Given the description of an element on the screen output the (x, y) to click on. 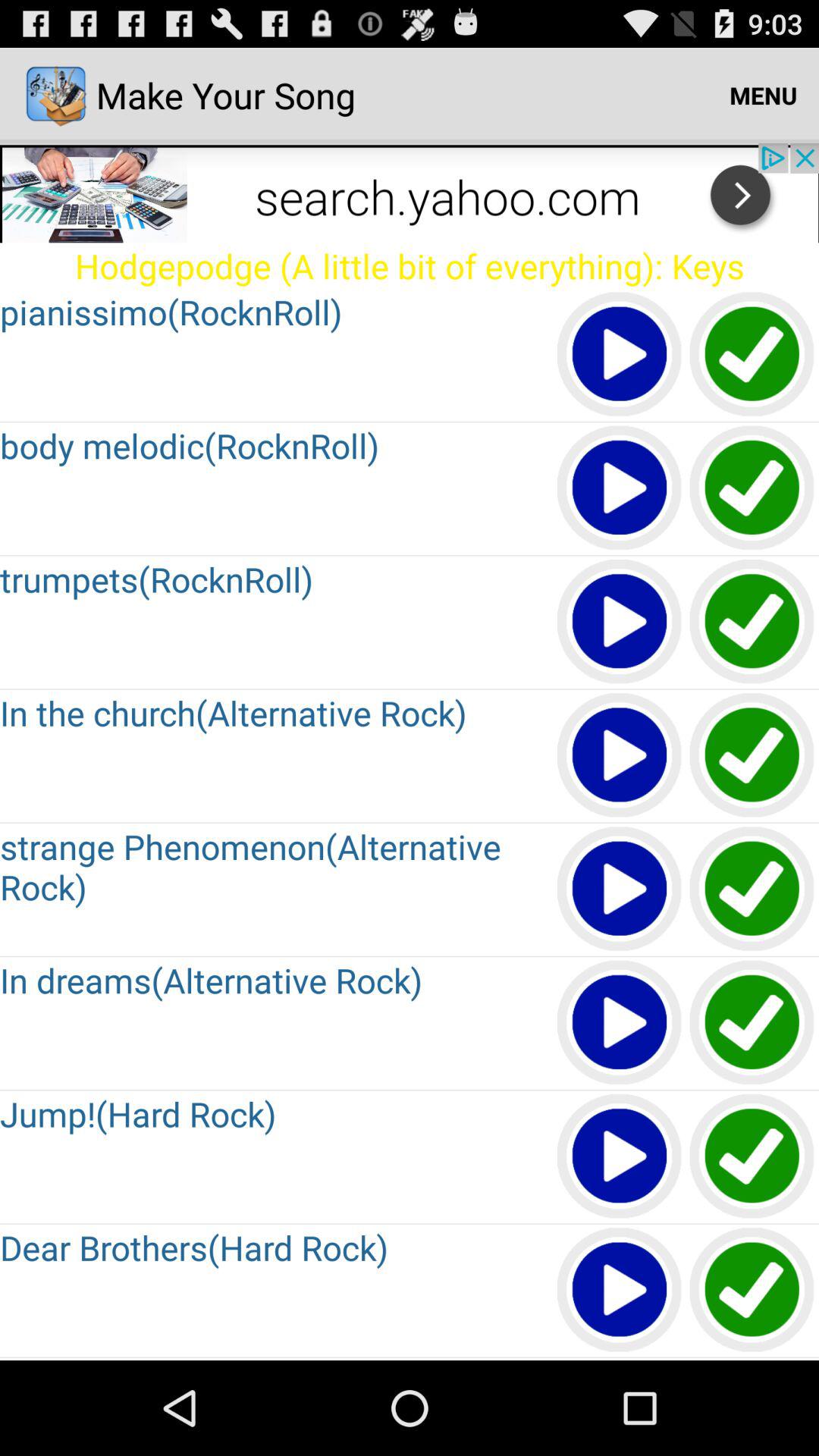
finish icon (752, 488)
